Given the description of an element on the screen output the (x, y) to click on. 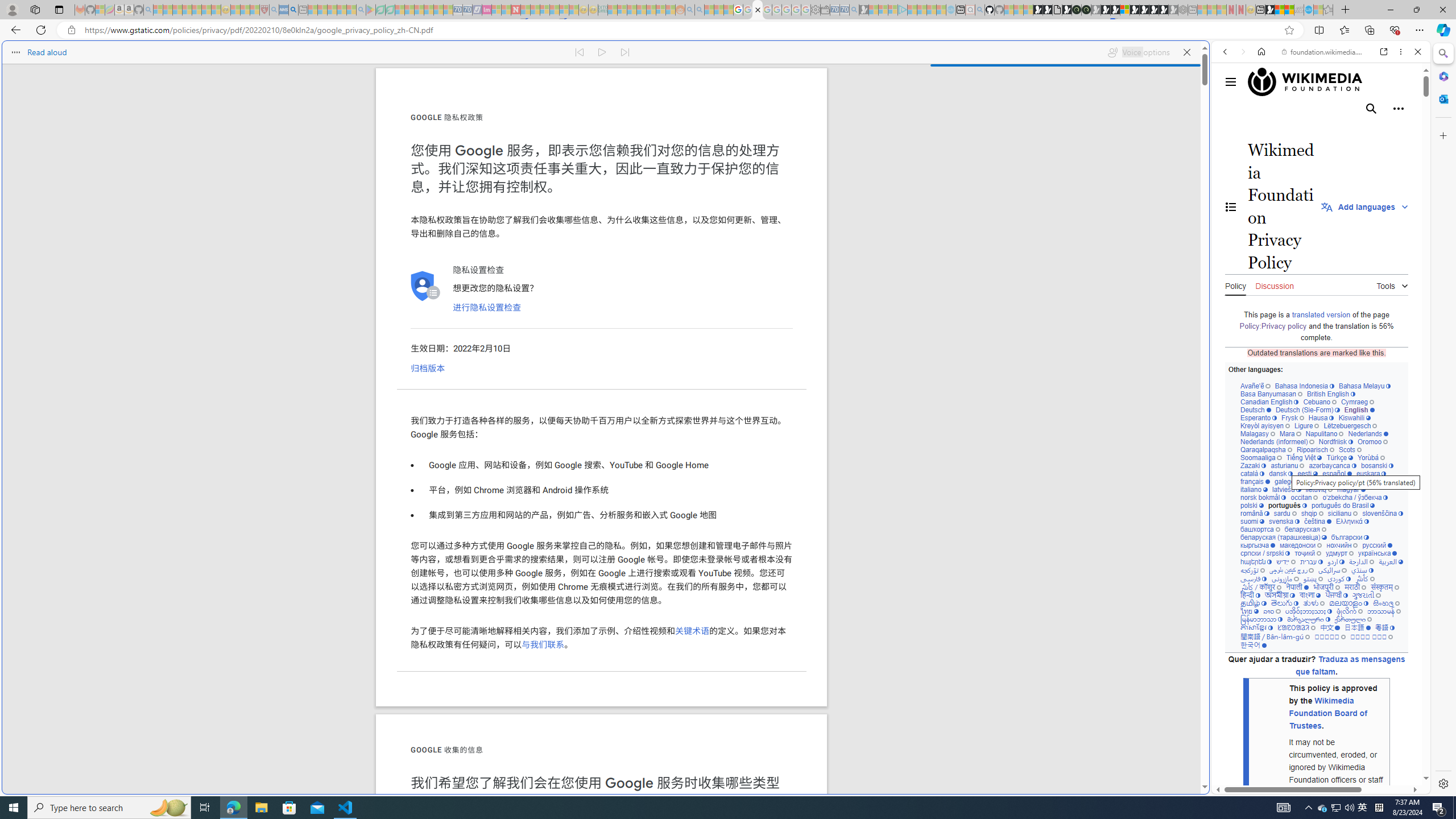
Services - Maintenance | Sky Blue Bikes - Sky Blue Bikes (1307, 9)
galego (1287, 481)
polski (1251, 505)
Hausa (1320, 417)
